Given the description of an element on the screen output the (x, y) to click on. 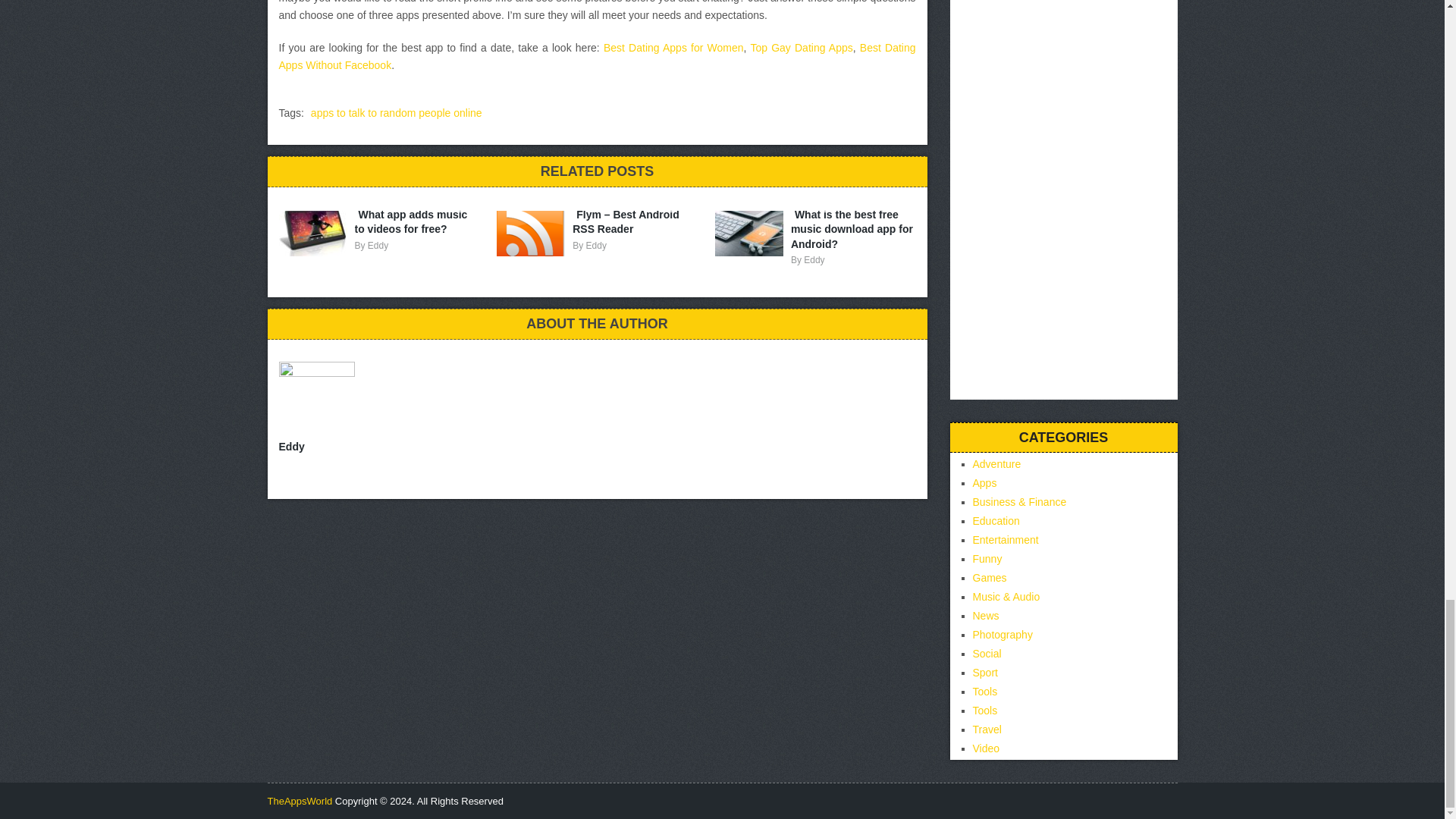
What is the best free music download app for Android? (851, 230)
Eddy (596, 245)
Posts by Eddy (813, 259)
Eddy (813, 259)
What app adds music to videos for free? (411, 223)
Top Gay Dating Apps (800, 47)
Eddy (378, 245)
What app adds music to videos for free? (411, 223)
apps to talk to random people online (396, 112)
Best Dating Apps Without Facebook (597, 56)
